Given the description of an element on the screen output the (x, y) to click on. 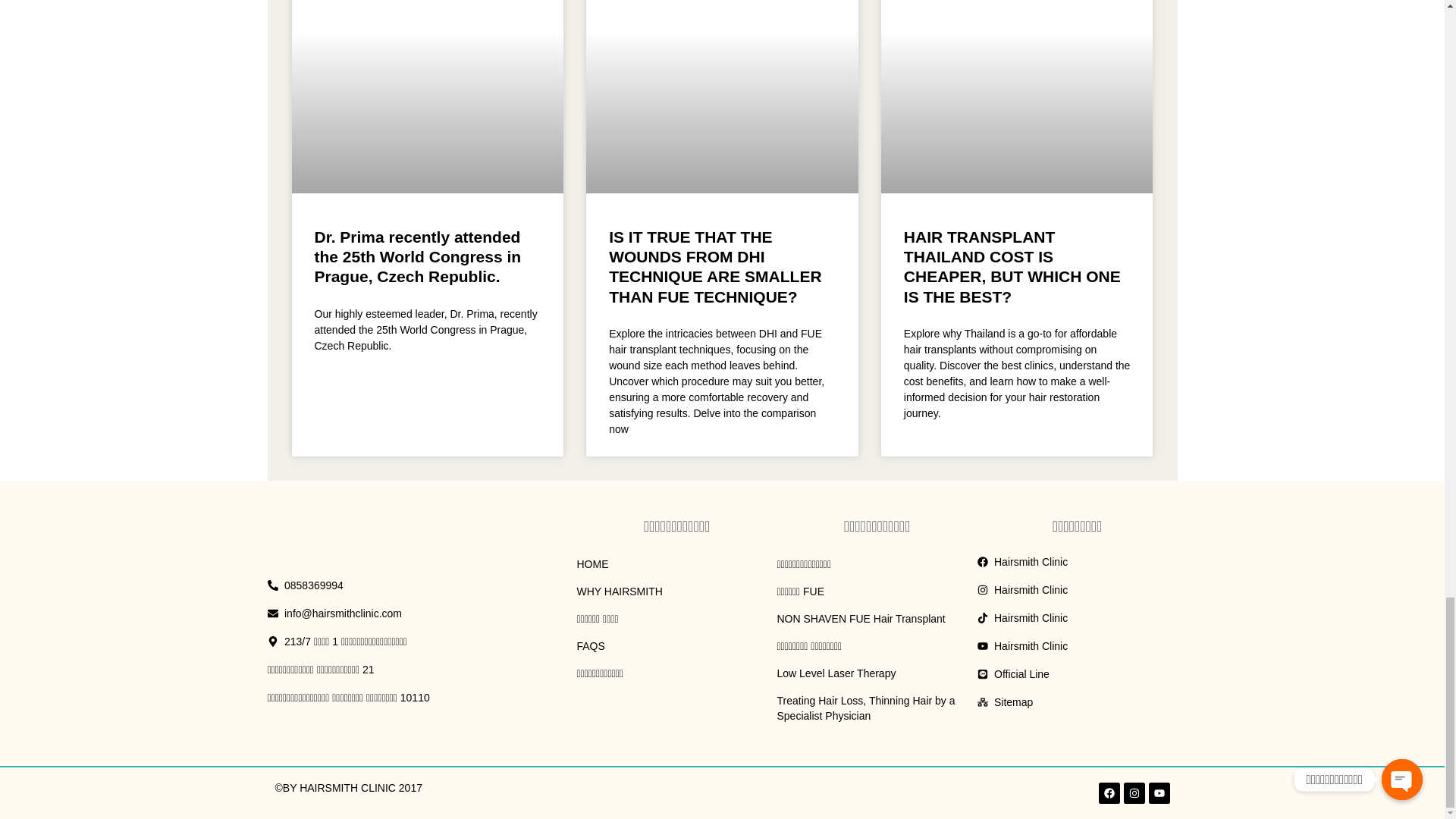
0858369994 (384, 585)
